Given the description of an element on the screen output the (x, y) to click on. 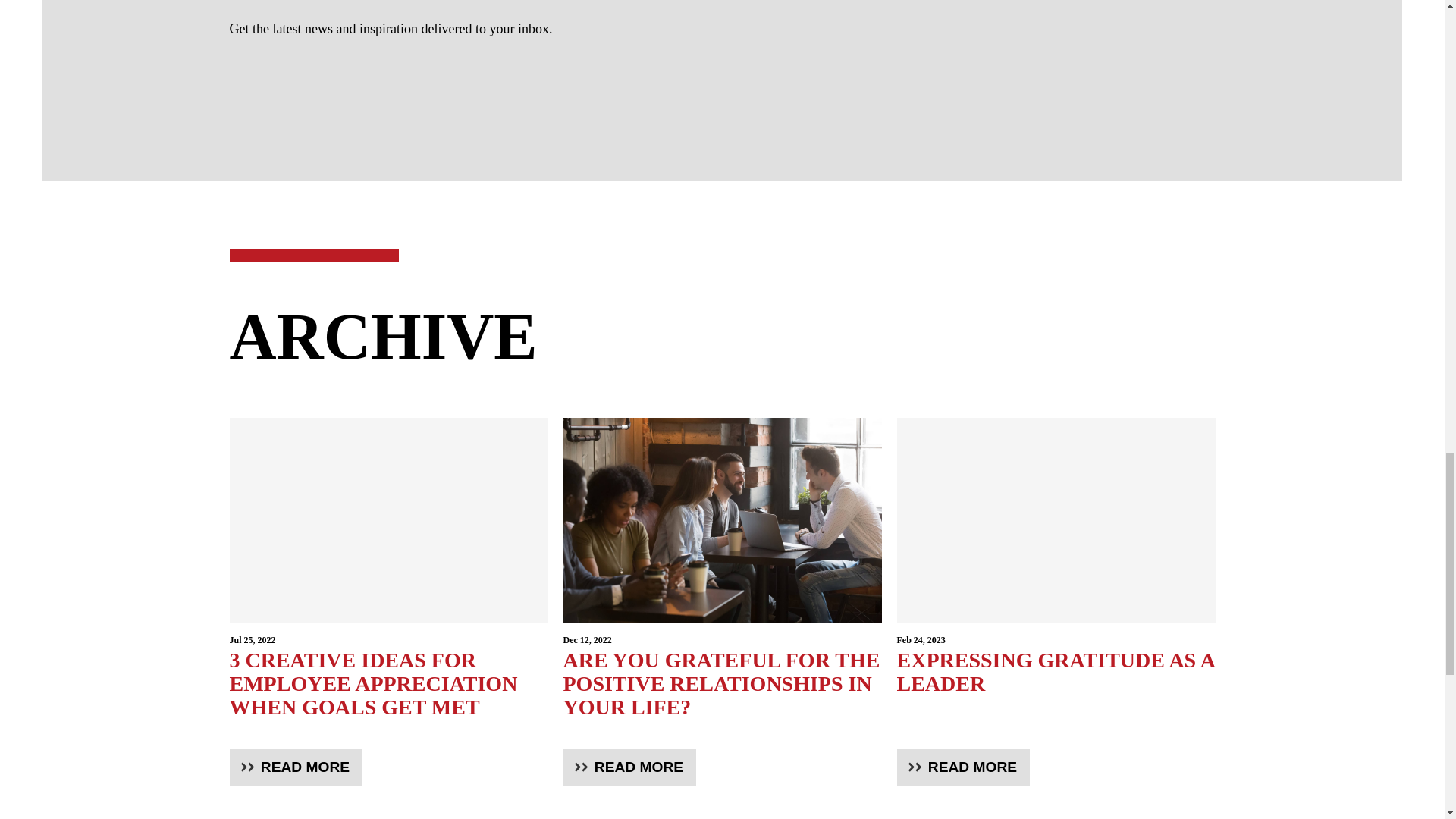
READ MORE (628, 767)
READ MORE (962, 767)
READ MORE (1055, 665)
